Given the description of an element on the screen output the (x, y) to click on. 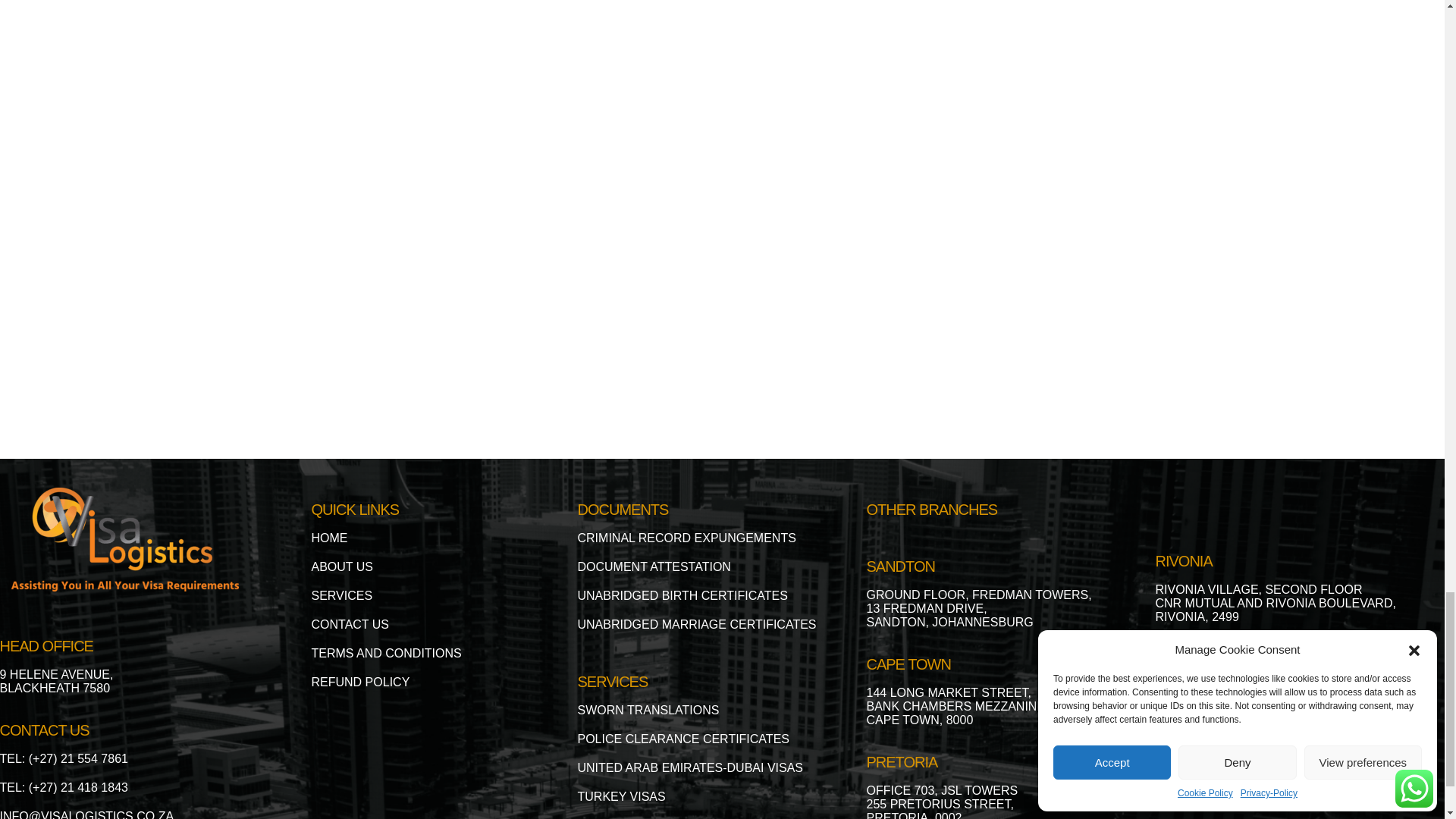
Visa Logistics Logo (124, 539)
